Given the description of an element on the screen output the (x, y) to click on. 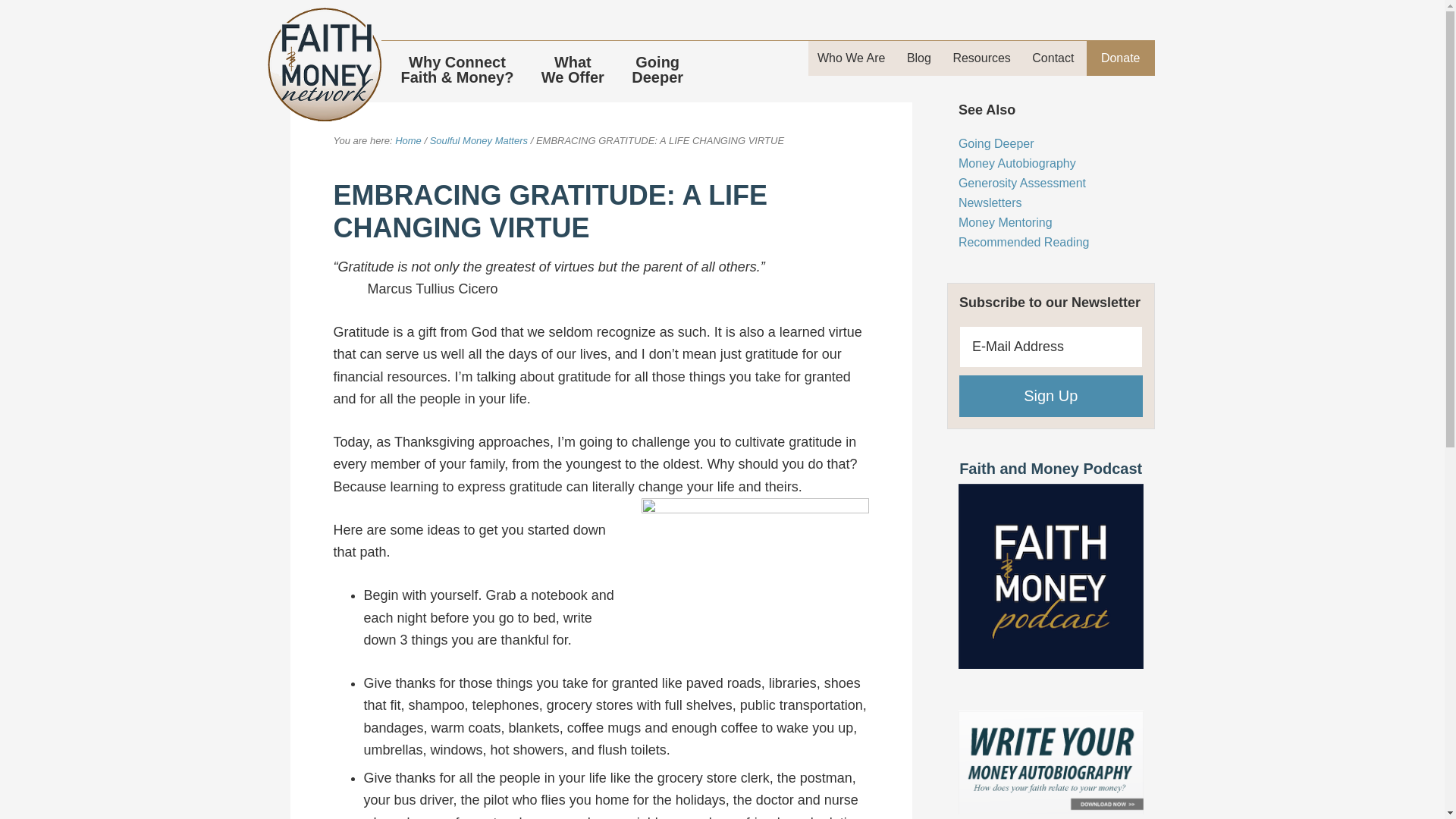
Donate (1121, 57)
Generosity Assessment (1022, 182)
Going Deeper (995, 143)
Resources (981, 57)
Soulful Money Matters (478, 140)
Sign Up (1050, 395)
Home (657, 69)
Contact (408, 140)
